Given the description of an element on the screen output the (x, y) to click on. 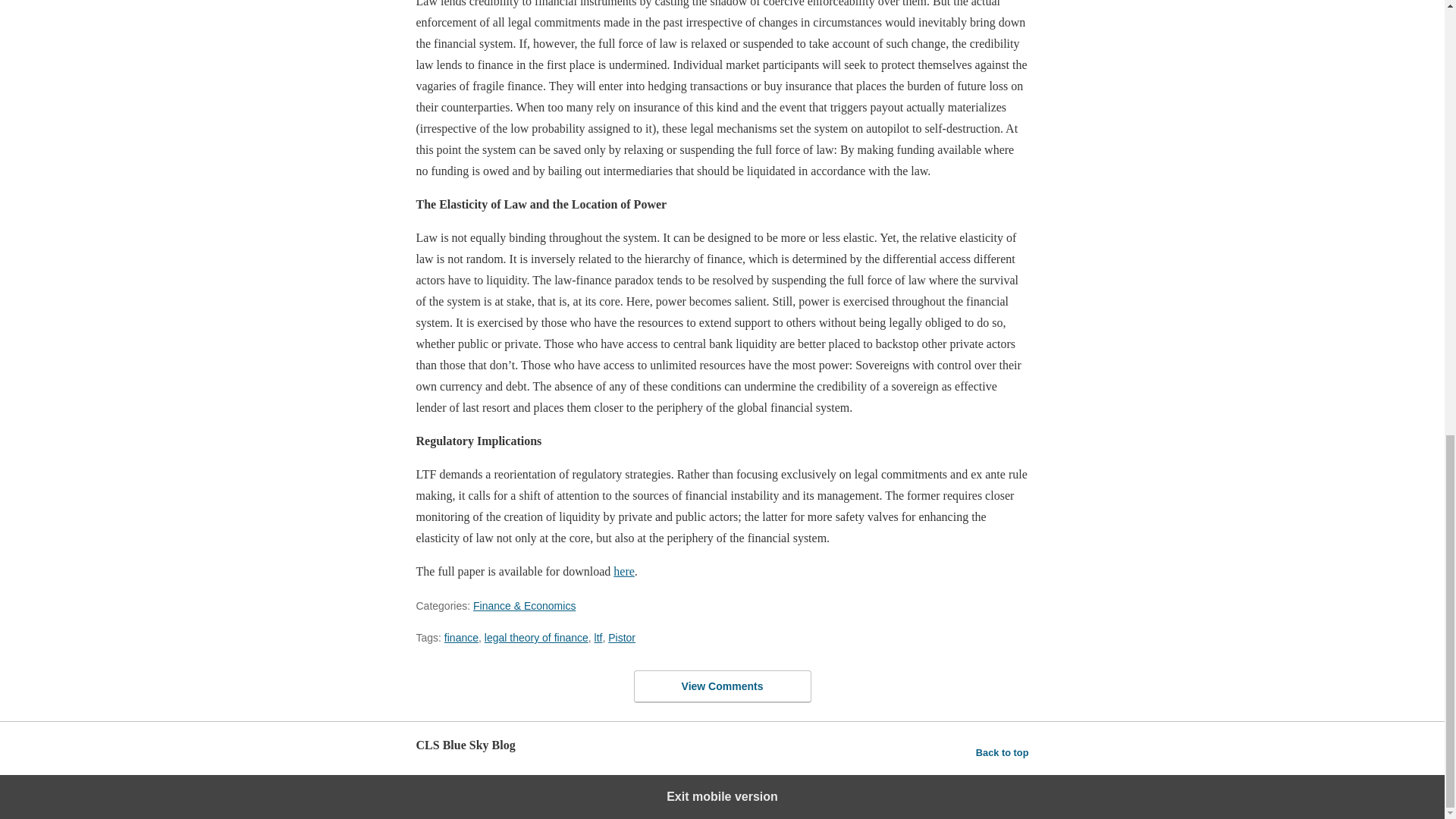
here (623, 571)
legal theory of finance (536, 637)
View Comments (721, 686)
finance (461, 637)
Pistor (621, 637)
Back to top (1002, 752)
